Given the description of an element on the screen output the (x, y) to click on. 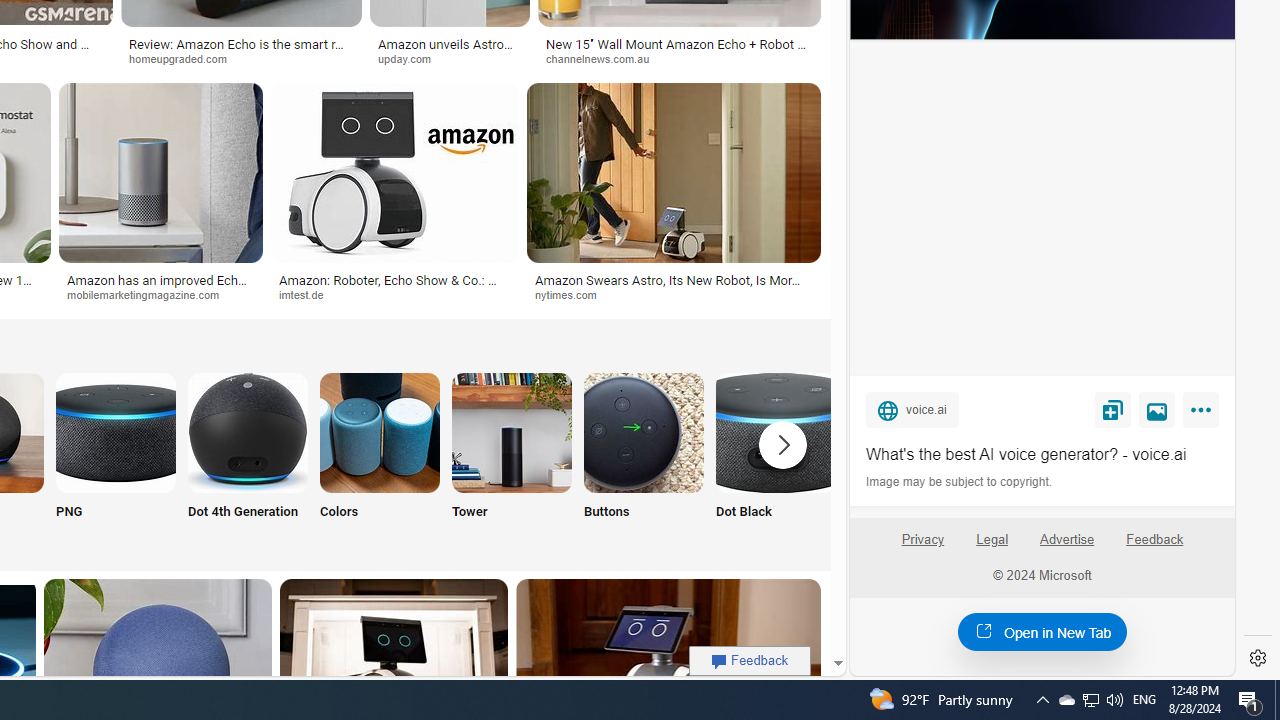
Amazon Echo Dot Black Dot Black (775, 458)
upday.com (449, 58)
Dot Black (775, 457)
homeupgraded.com (241, 58)
Advertise (1067, 547)
Image result for Amazon Echo Robot (673, 172)
mobilemarketingmagazine.com (150, 294)
Scroll more suggestions right (783, 444)
imtest.de (394, 295)
View image (1157, 409)
